Given the description of an element on the screen output the (x, y) to click on. 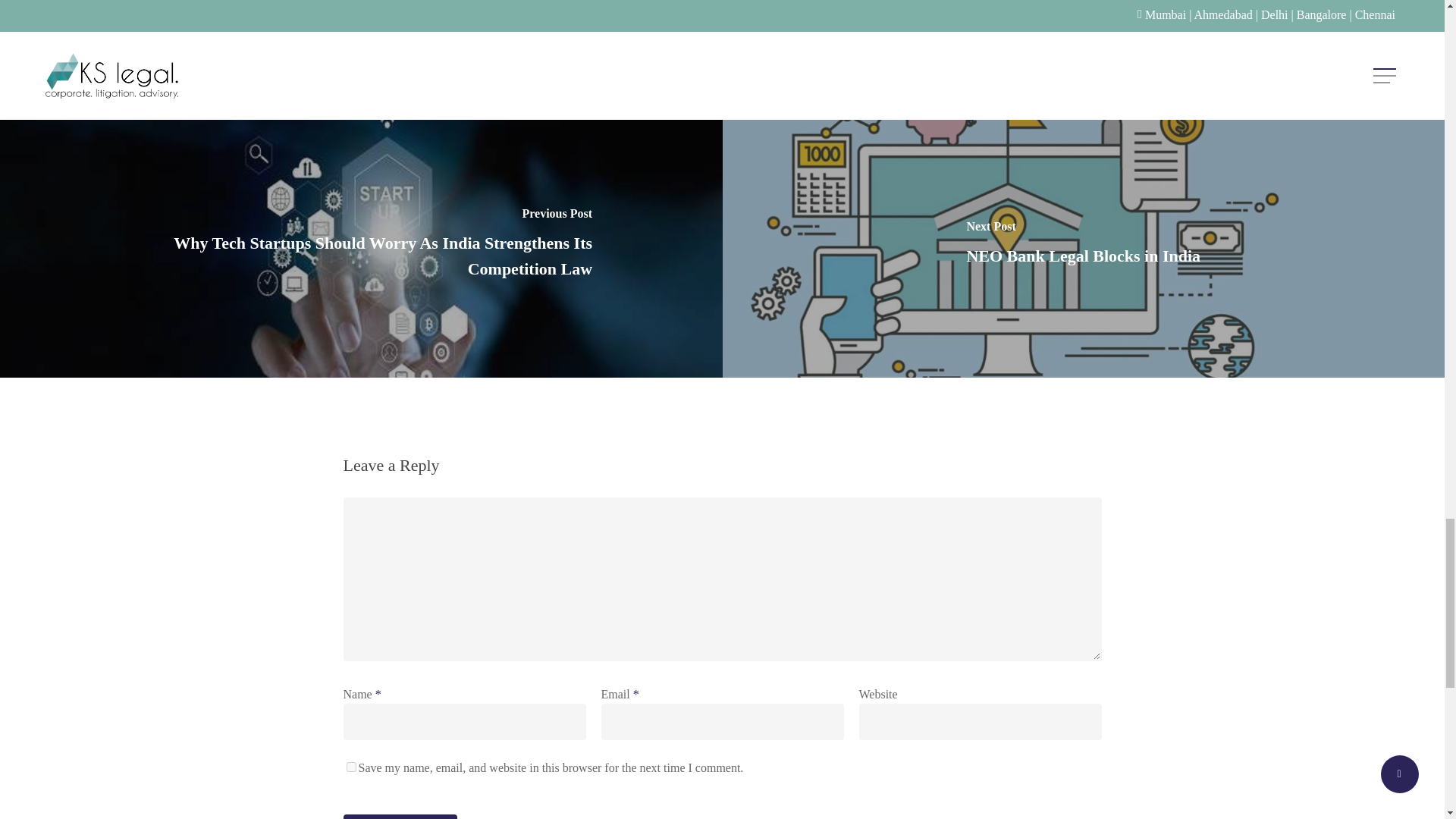
KS Legal (369, 7)
Submit Comment (399, 816)
yes (350, 767)
Submit Comment (399, 816)
